Given the description of an element on the screen output the (x, y) to click on. 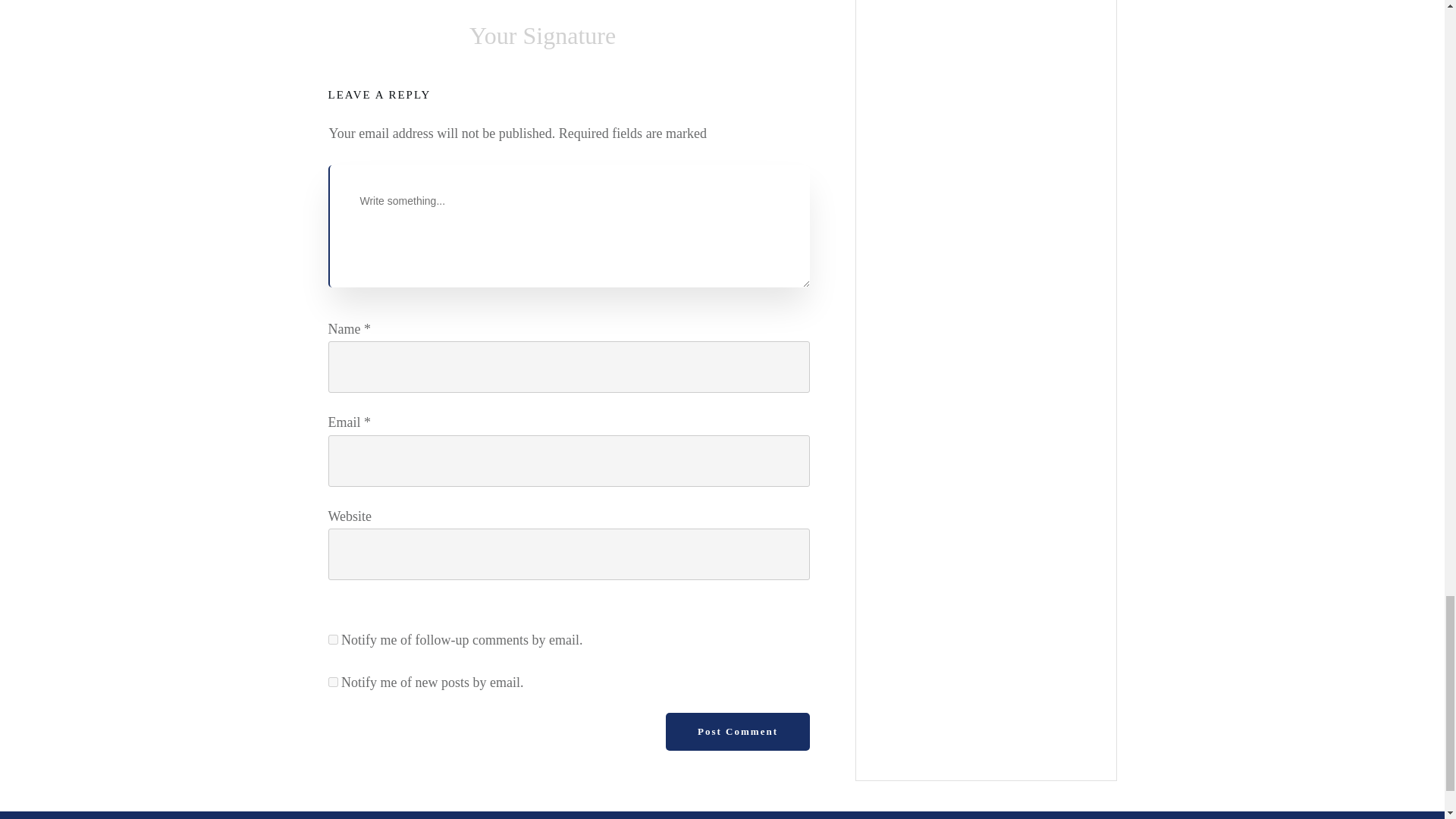
subscribe (332, 682)
subscribe (332, 639)
